Given the description of an element on the screen output the (x, y) to click on. 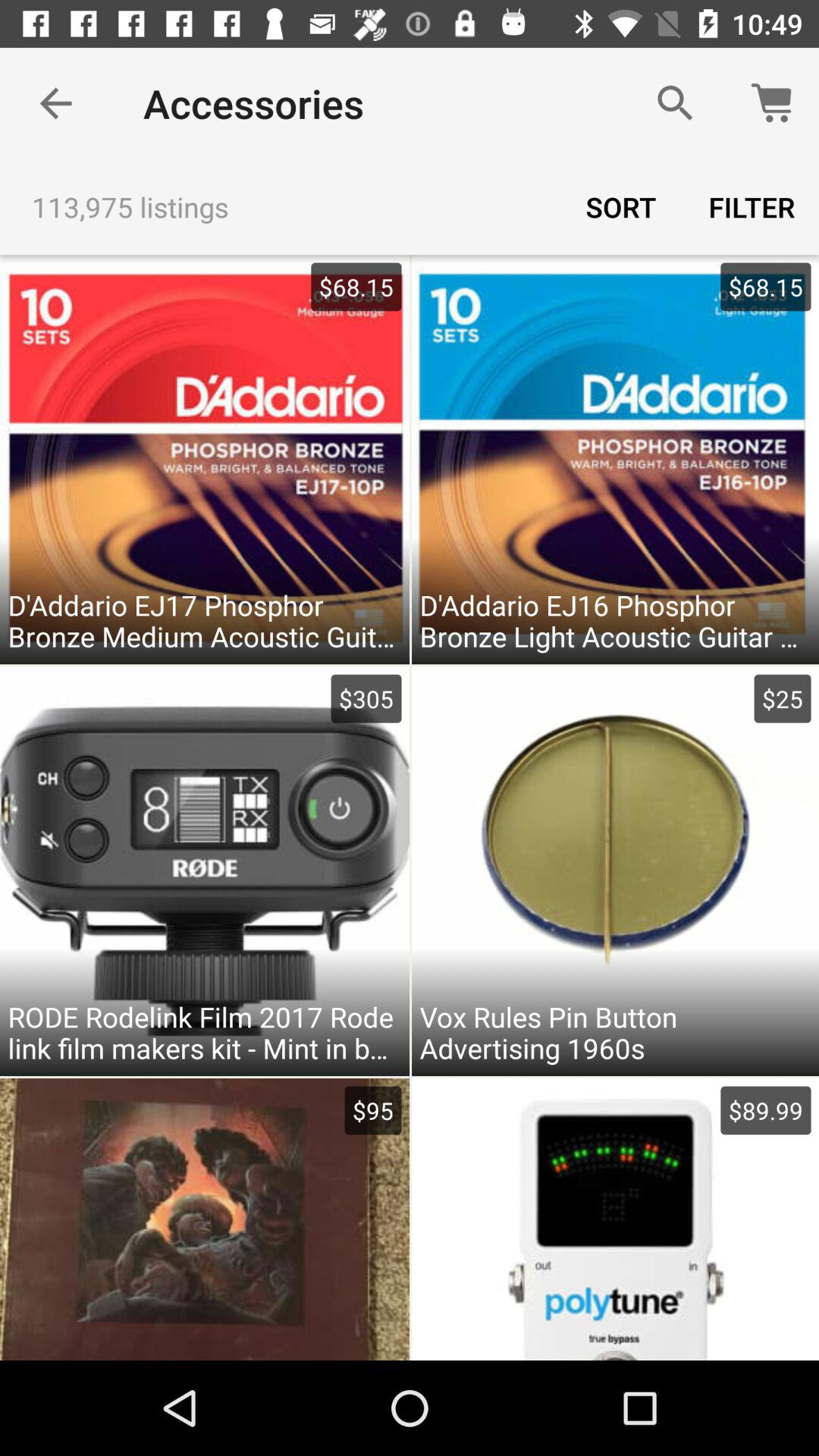
open the icon next to the accessories (675, 103)
